Given the description of an element on the screen output the (x, y) to click on. 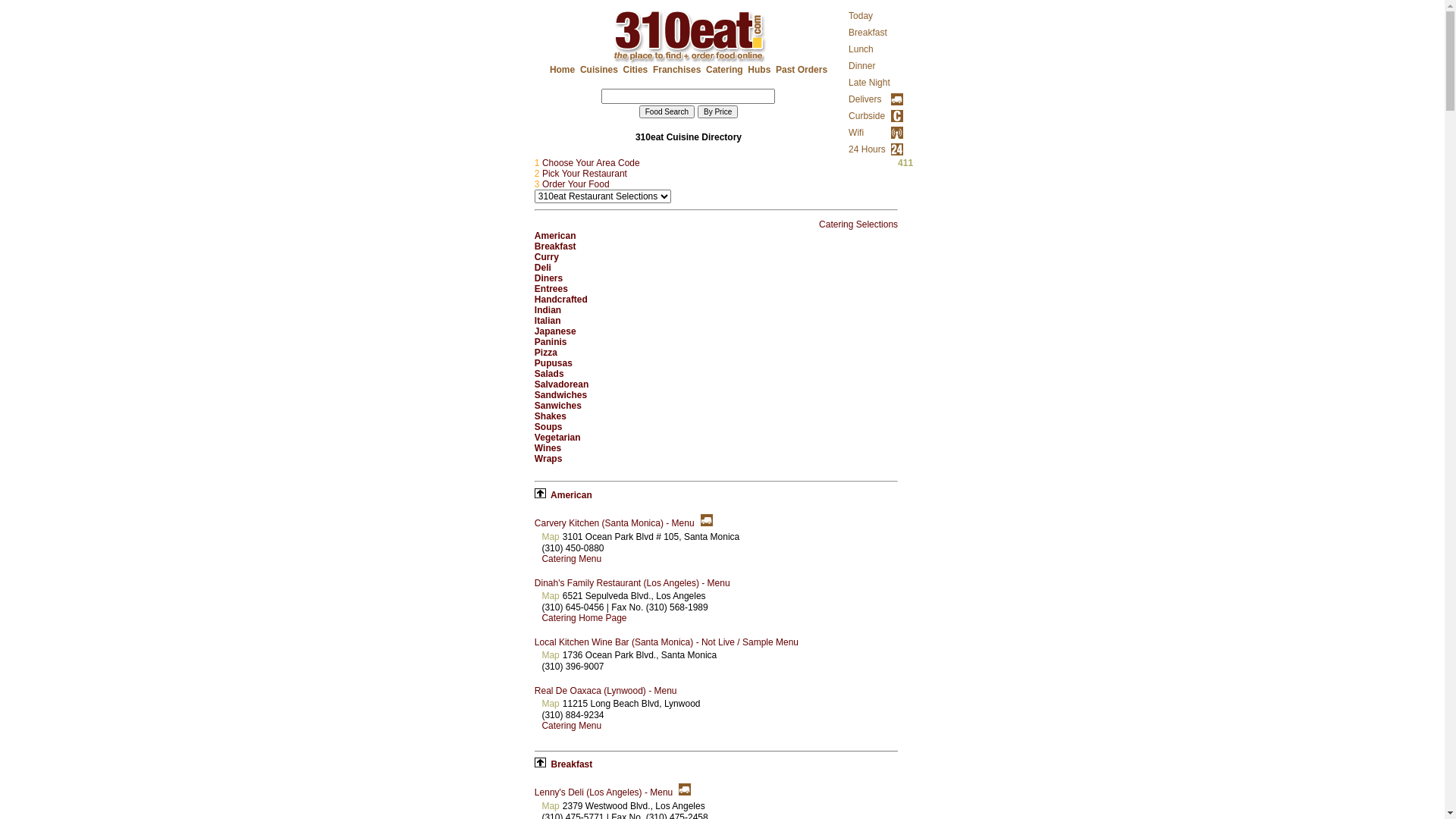
24 Hours Element type: text (866, 149)
Cities Element type: text (635, 69)
Real De Oaxaca (Lynwood) - Menu Element type: text (605, 690)
Catering Menu Element type: text (571, 725)
 Breakfast Element type: text (570, 764)
Catering Selections Element type: text (858, 224)
Map Element type: text (549, 805)
Soups Element type: text (548, 426)
411 Element type: text (905, 162)
Breakfast Element type: text (555, 246)
Today Element type: text (860, 15)
Curbside Element type: text (866, 115)
Late Night Element type: text (869, 82)
Dinah's Family Restaurant (Los Angeles) - Menu Element type: text (632, 582)
Hubs Element type: text (758, 69)
Cuisines Element type: text (599, 69)
Franchises Element type: text (676, 69)
Lunch Element type: text (860, 48)
American Element type: text (555, 235)
 American Element type: text (570, 494)
Delivers Element type: text (864, 99)
Salvadorean Element type: text (561, 384)
Lenny's Deli (Los Angeles) - Menu Element type: text (603, 792)
Wraps Element type: text (547, 458)
Curry Element type: text (546, 256)
Handcrafted Element type: text (560, 299)
Indian Element type: text (547, 309)
Sanwiches Element type: text (557, 405)
Map Element type: text (549, 654)
Dinner Element type: text (861, 65)
By Price Element type: text (717, 111)
Catering Element type: text (724, 69)
Entrees Element type: text (550, 288)
Shakes Element type: text (550, 416)
Vegetarian Element type: text (557, 437)
Sandwiches Element type: text (560, 394)
Catering Home Page Element type: text (583, 617)
Map Element type: text (549, 536)
Carvery Kitchen (Santa Monica) - Menu Element type: text (614, 522)
Diners Element type: text (548, 278)
Wines Element type: text (547, 447)
Italian Element type: text (547, 320)
Pizza Element type: text (545, 352)
Breakfast Element type: text (867, 32)
Map Element type: text (549, 703)
Pupusas Element type: text (553, 362)
Deli Element type: text (542, 267)
Catering Menu Element type: text (571, 558)
Paninis Element type: text (550, 341)
Wifi Element type: text (855, 132)
Food Search Element type: text (666, 111)
Salads Element type: text (549, 373)
Map Element type: text (549, 595)
Japanese Element type: text (555, 331)
Home Element type: text (561, 69)
Past Orders Element type: text (801, 69)
